Given the description of an element on the screen output the (x, y) to click on. 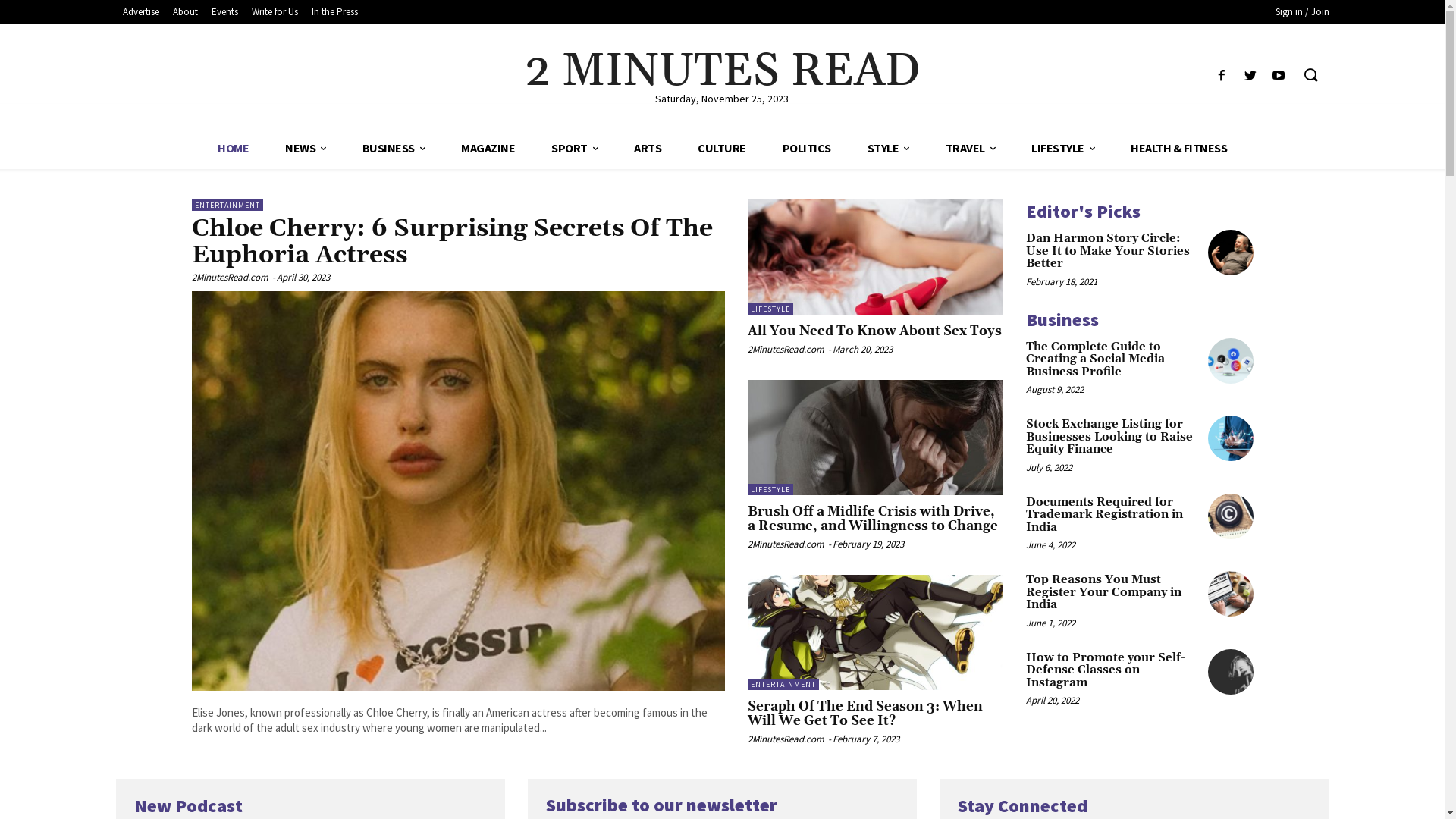
All You Need To Know About Sex Toys Element type: hover (875, 256)
Chloe Cherry: 6 Surprising Secrets Of The Euphoria Actress Element type: text (451, 241)
Write for Us Element type: text (274, 11)
Seraph Of The End Season 3: When Will We Get To See It? Element type: text (864, 713)
2MinutesRead.com Element type: text (229, 276)
BUSINESS Element type: text (393, 148)
LIFESTYLE Element type: text (770, 308)
Top Reasons You Must Register Your Company in India Element type: text (1102, 591)
How to Promote your Self-Defense Classes on Instagram Element type: text (1104, 670)
CULTURE Element type: text (721, 148)
Seraph Of The End Season 3: When Will We Get To See It? Element type: hover (875, 631)
2MinutesRead.com Element type: text (785, 543)
LIFESTYLE Element type: text (1062, 148)
Dan Harmon Story Circle: Use It to Make Your Stories Better Element type: hover (1229, 252)
LIFESTYLE Element type: text (770, 489)
Chloe Cherry: 6 Surprising Secrets Of The Euphoria Actress Element type: hover (457, 490)
In the Press Element type: text (334, 11)
HEALTH & FITNESS Element type: text (1178, 148)
Top Reasons You Must Register Your Company in India Element type: hover (1229, 593)
SPORT Element type: text (574, 148)
2 MINUTES READ Element type: text (721, 72)
MAGAZINE Element type: text (487, 148)
How to Promote your Self-Defense Classes on Instagram Element type: hover (1229, 671)
All You Need To Know About Sex Toys Element type: text (874, 331)
ENTERTAINMENT Element type: text (783, 684)
STYLE Element type: text (888, 148)
Documents Required for Trademark Registration in India Element type: text (1103, 514)
POLITICS Element type: text (806, 148)
Dan Harmon Story Circle: Use It to Make Your Stories Better Element type: text (1107, 250)
Documents Required for Trademark Registration in India Element type: hover (1229, 516)
TRAVEL Element type: text (969, 148)
2MinutesRead.com Element type: text (785, 348)
HOME Element type: text (232, 148)
Events Element type: text (224, 11)
ARTS Element type: text (647, 148)
About Element type: text (184, 11)
Advertise Element type: text (140, 11)
NEWS Element type: text (305, 148)
Sign in / Join Element type: text (1302, 11)
ENTERTAINMENT Element type: text (226, 204)
2MinutesRead.com Element type: text (785, 738)
